Given the description of an element on the screen output the (x, y) to click on. 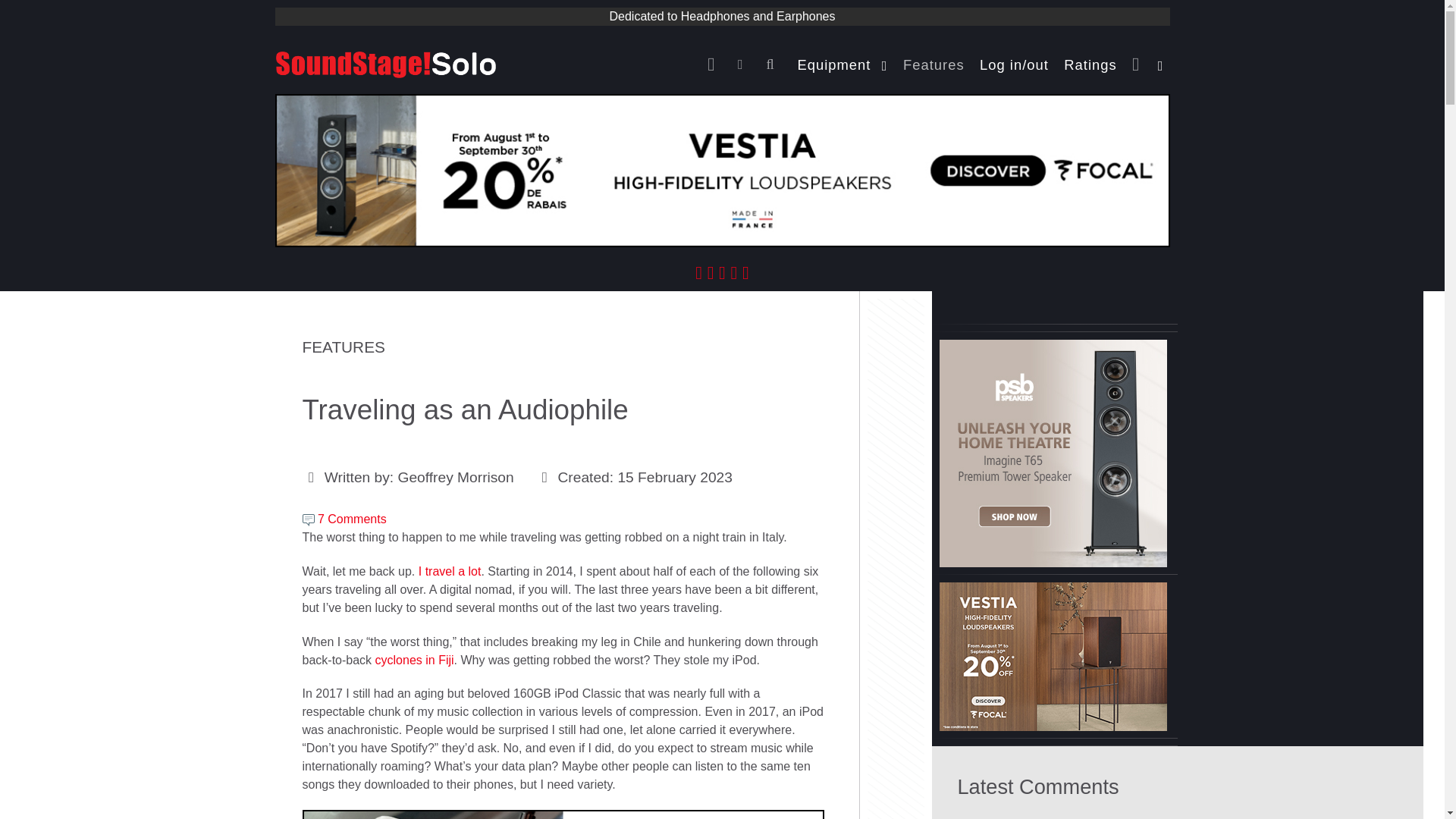
Solo. (385, 62)
Ratings (1090, 64)
Features (933, 64)
Equipment (842, 64)
Home (714, 64)
